Given the description of an element on the screen output the (x, y) to click on. 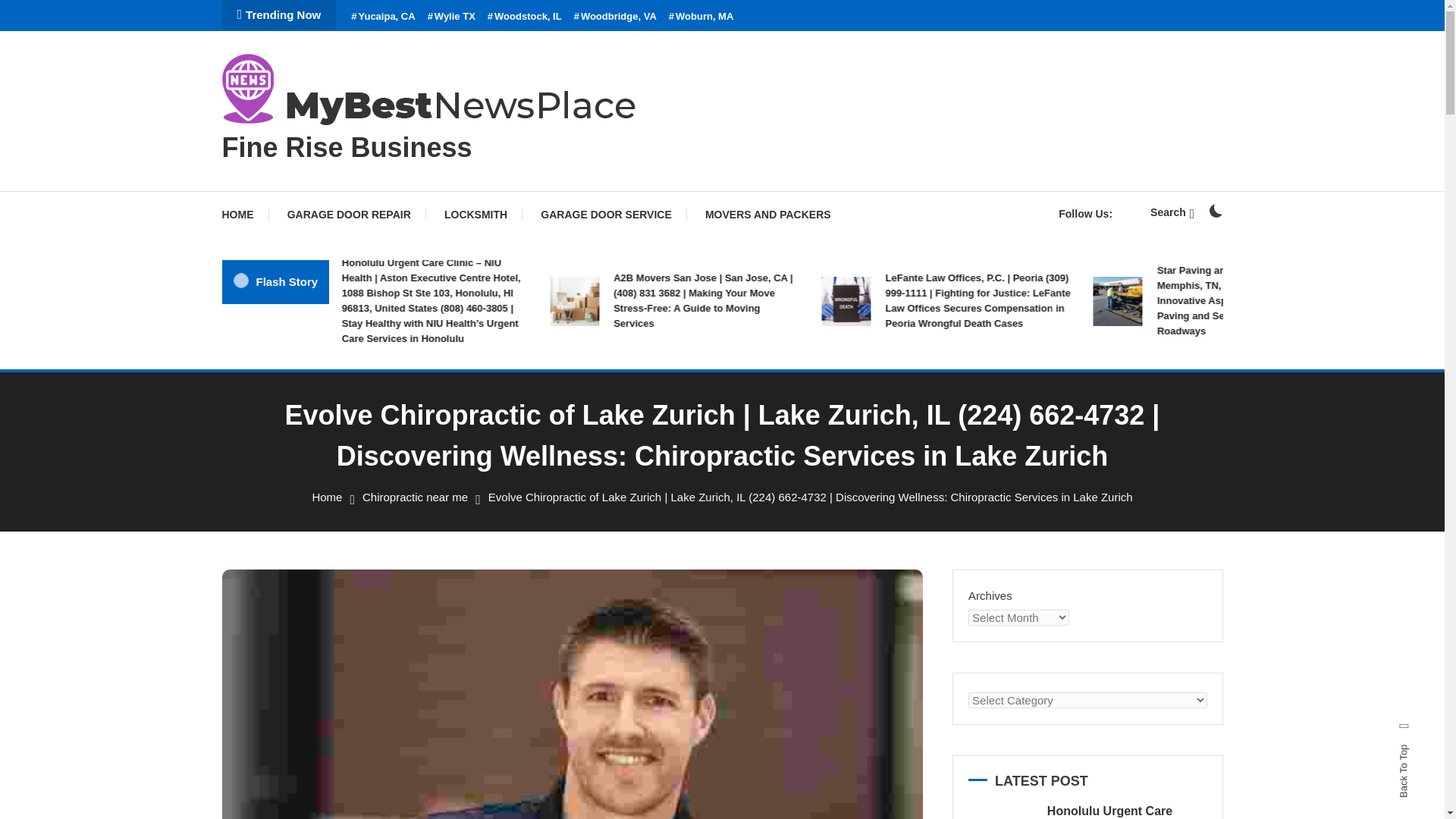
Woburn, MA (700, 16)
Wylie TX (452, 16)
Yucaipa, CA (382, 16)
Chiropractic near me (414, 496)
Woodstock, IL (524, 16)
Home (326, 496)
Fine Rise Business (346, 146)
GARAGE DOOR REPAIR (349, 214)
HOME (244, 214)
Search (1171, 212)
on (1215, 210)
Search (768, 434)
LOCKSMITH (475, 214)
Woodbridge, VA (614, 16)
GARAGE DOOR SERVICE (605, 214)
